Given the description of an element on the screen output the (x, y) to click on. 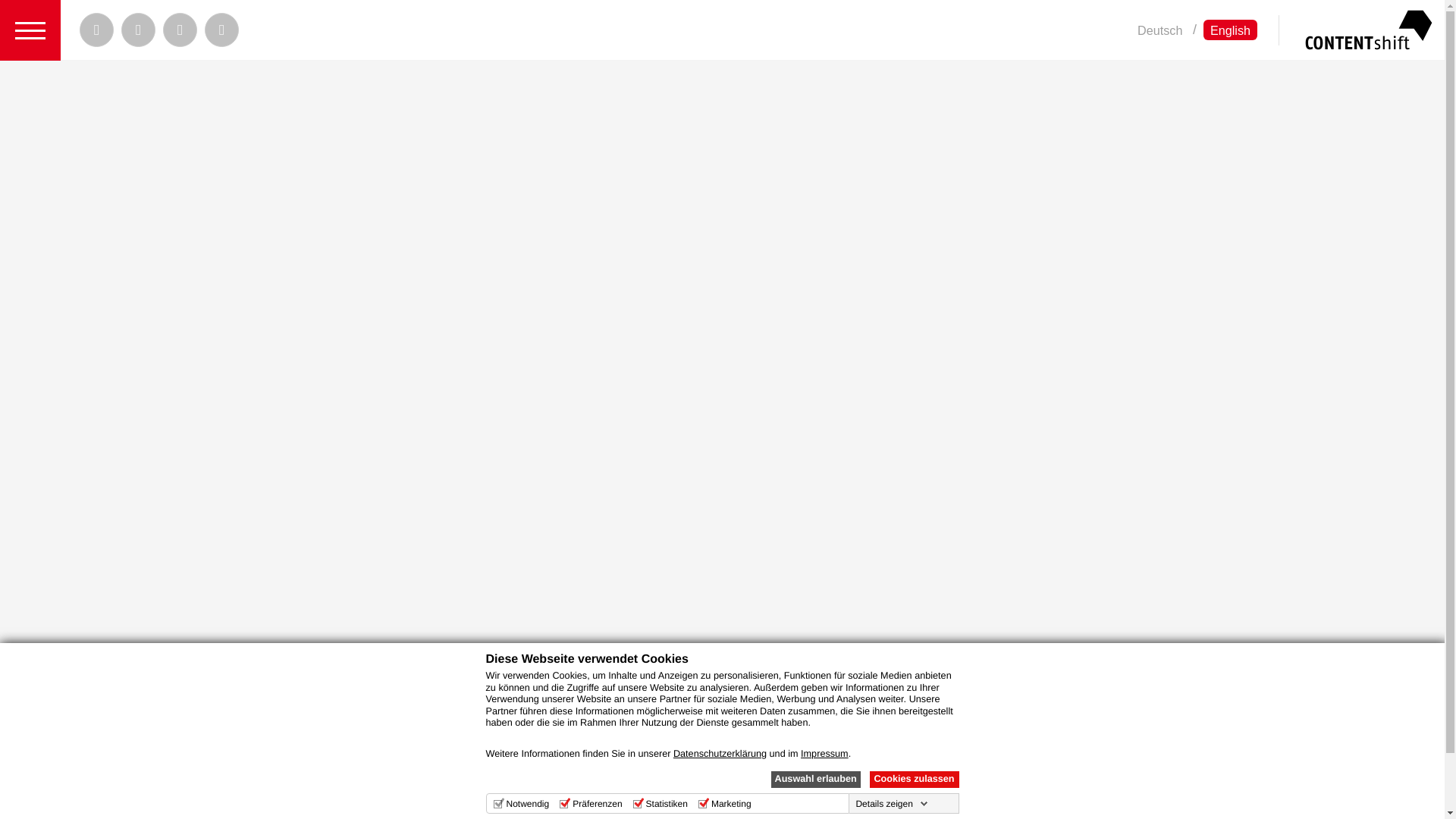
Cookies zulassen (913, 779)
Details zeigen (890, 803)
Auswahl erlauben (815, 779)
Impressum (824, 753)
